Given the description of an element on the screen output the (x, y) to click on. 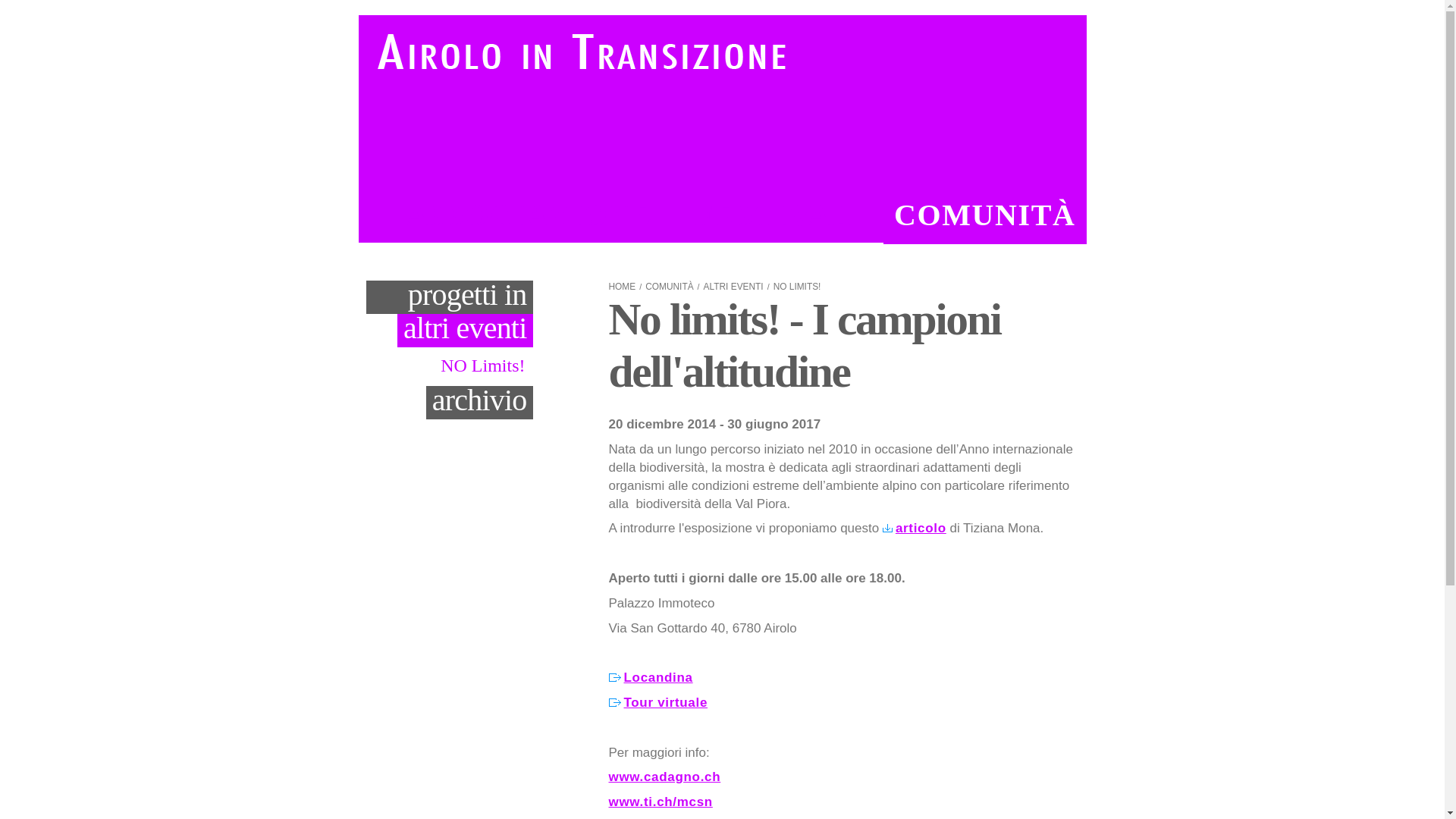
FESTIVAL Element type: text (773, 215)
ALTRI EVENTI Element type: text (733, 286)
articolo Element type: text (914, 528)
www.ti.ch/mcsn Element type: text (660, 802)
archivio Element type: text (479, 402)
www.cadagno.ch Element type: text (664, 777)
Locandina Element type: text (650, 677)
altri eventi Element type: text (465, 330)
progetti in corso Element type: text (448, 296)
ASSOCIAZIONE Element type: text (529, 215)
HOME Element type: text (621, 286)
NO Limits! Element type: text (486, 365)
Tour virtuale Element type: text (657, 702)
